Given the description of an element on the screen output the (x, y) to click on. 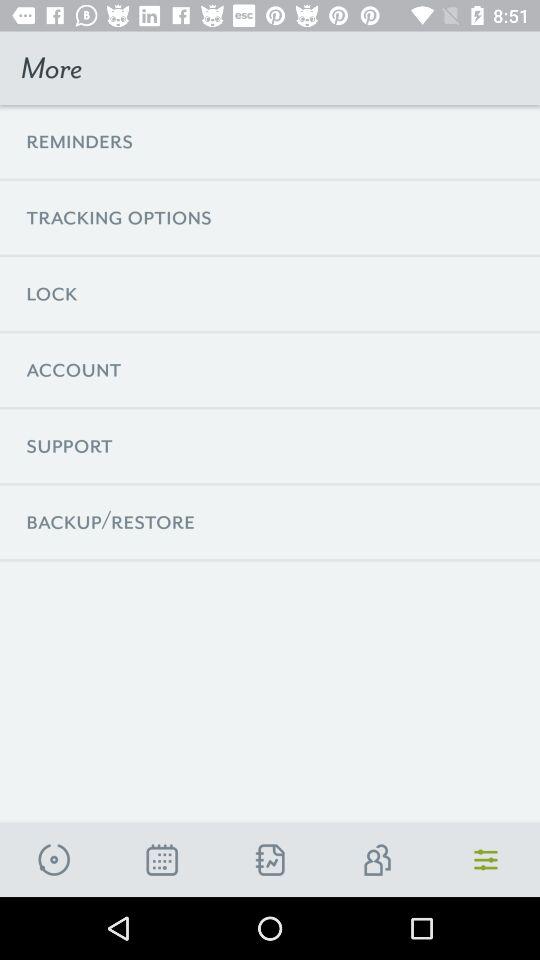
open notebook feature (270, 860)
